Given the description of an element on the screen output the (x, y) to click on. 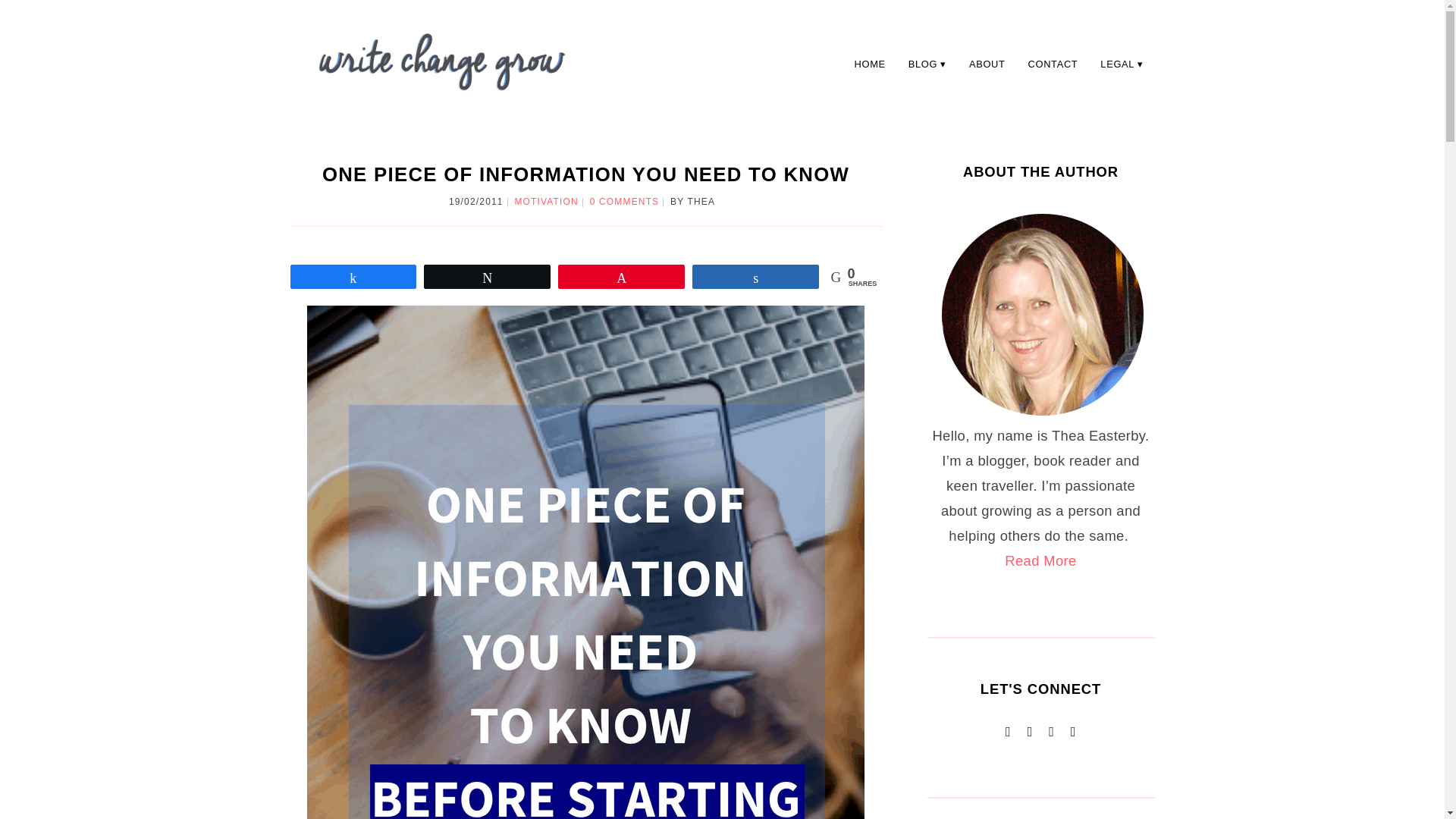
0 COMMENTS (624, 201)
BLOG (927, 64)
Read More (1039, 560)
ABOUT (987, 64)
CONTACT (1052, 64)
MOTIVATION (545, 201)
LEGAL (1121, 64)
Write Change Grow (440, 60)
ONE PIECE OF INFORMATION YOU NEED TO KNOW (584, 174)
One Piece of Information You Need to Know (584, 174)
HOME (869, 64)
